Given the description of an element on the screen output the (x, y) to click on. 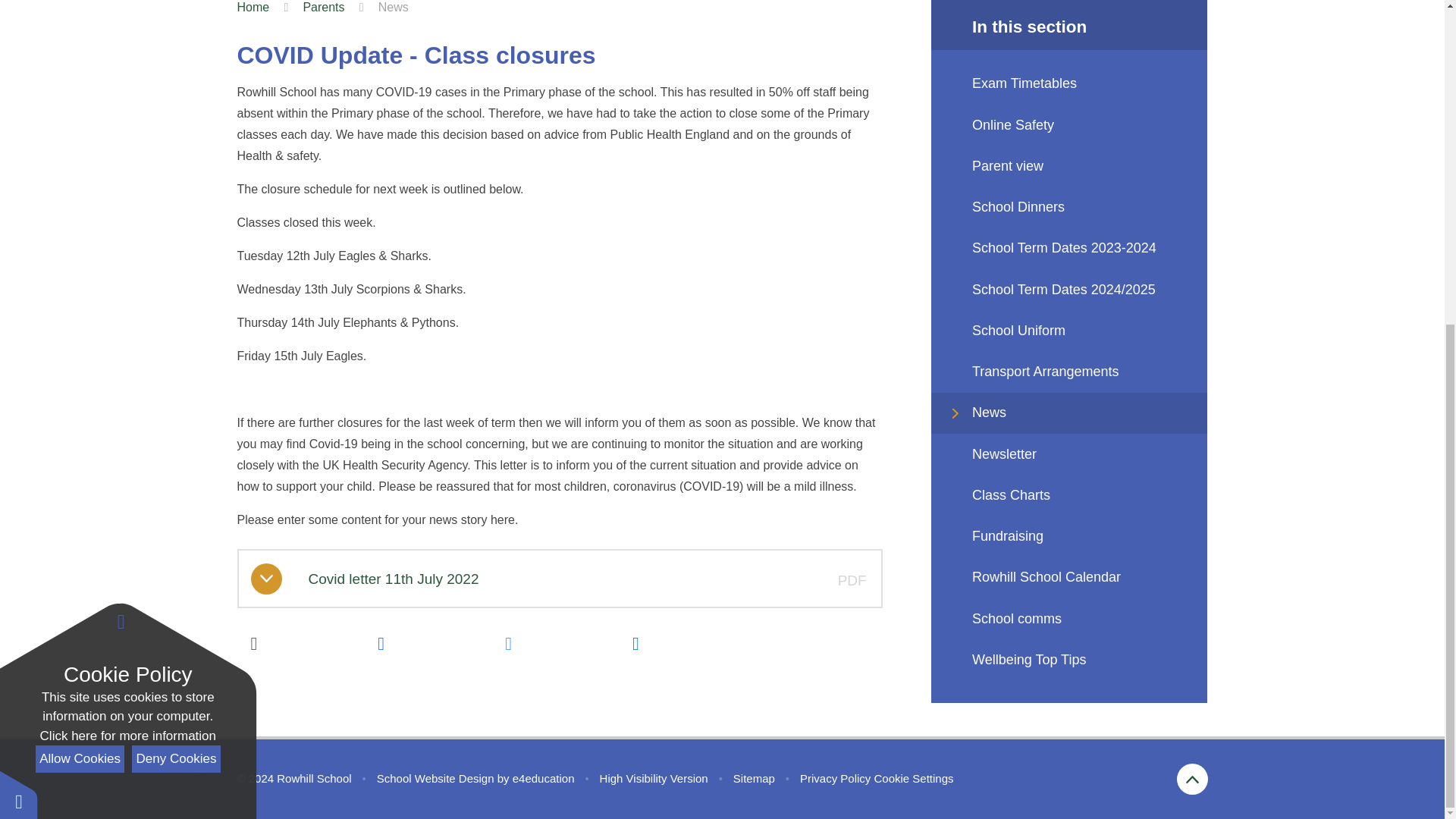
Deny Cookies (175, 227)
Allow Cookies (78, 227)
See cookie policy (127, 205)
Cookie Settings (913, 778)
